Given the description of an element on the screen output the (x, y) to click on. 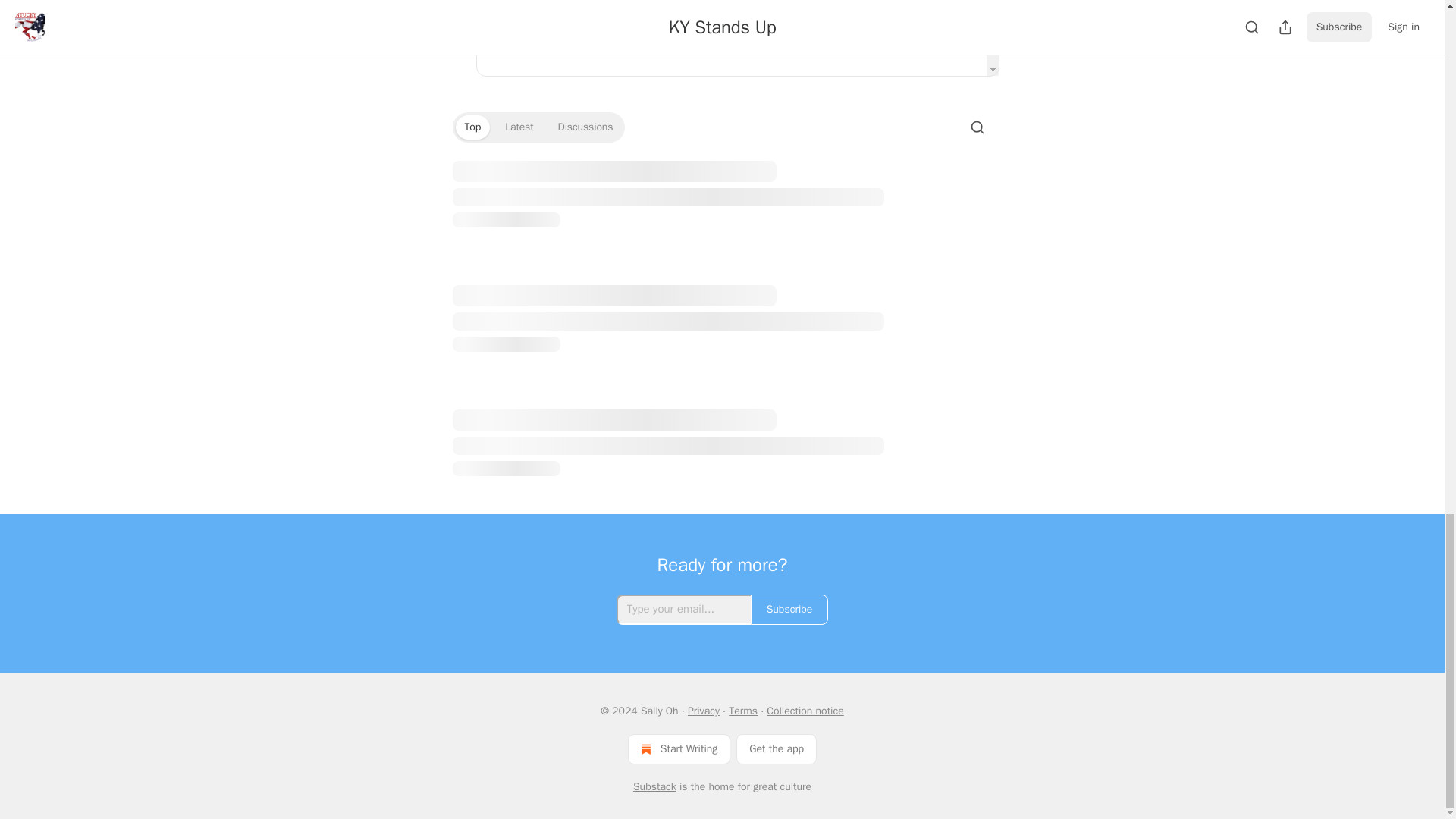
Discussions (585, 126)
Privacy (703, 710)
Terms (743, 710)
Subscribe (789, 609)
Top (471, 126)
Latest (518, 126)
